Given the description of an element on the screen output the (x, y) to click on. 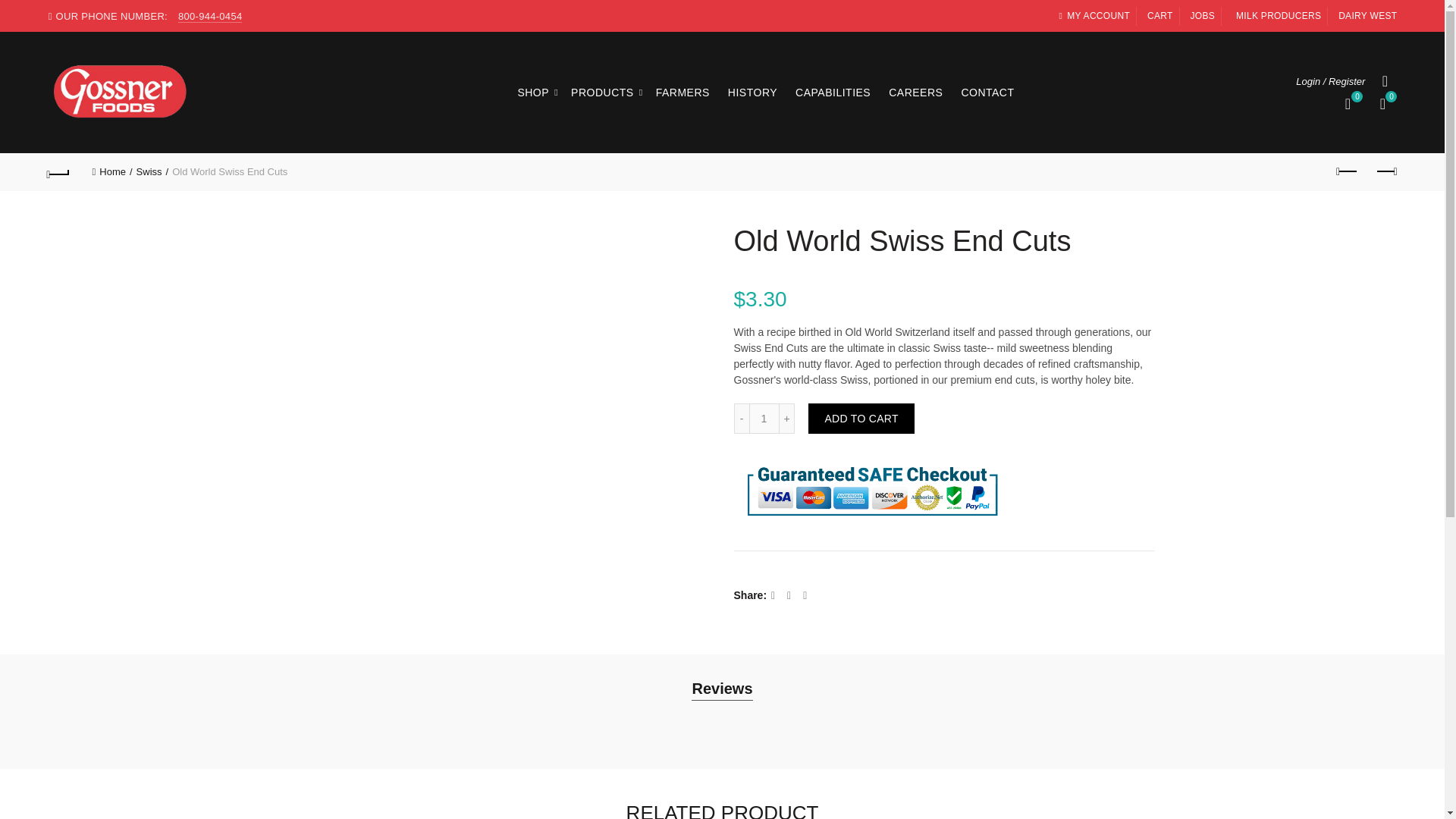
1 (763, 418)
- (741, 418)
Qty (763, 418)
